Given the description of an element on the screen output the (x, y) to click on. 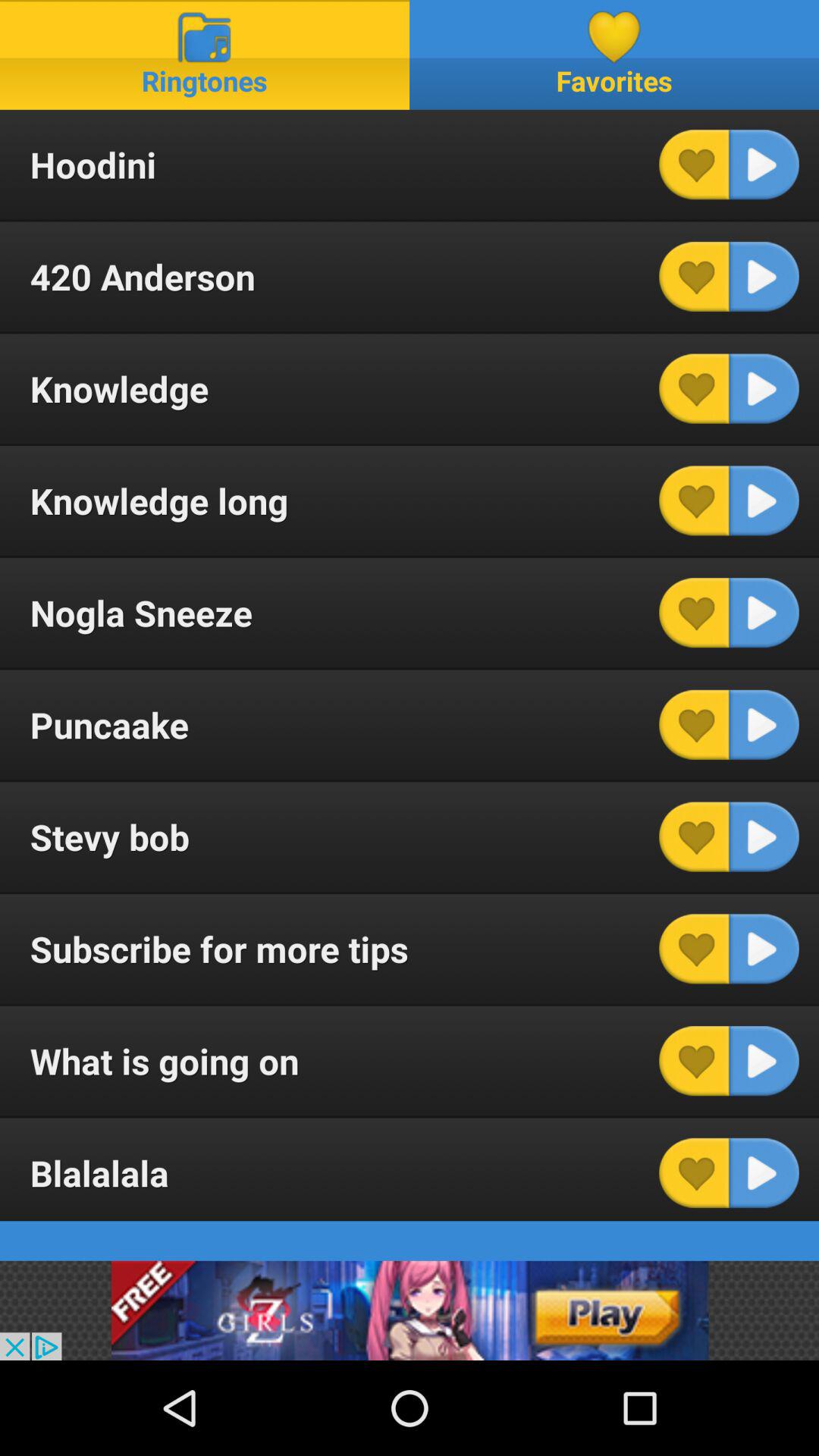
play (764, 724)
